Given the description of an element on the screen output the (x, y) to click on. 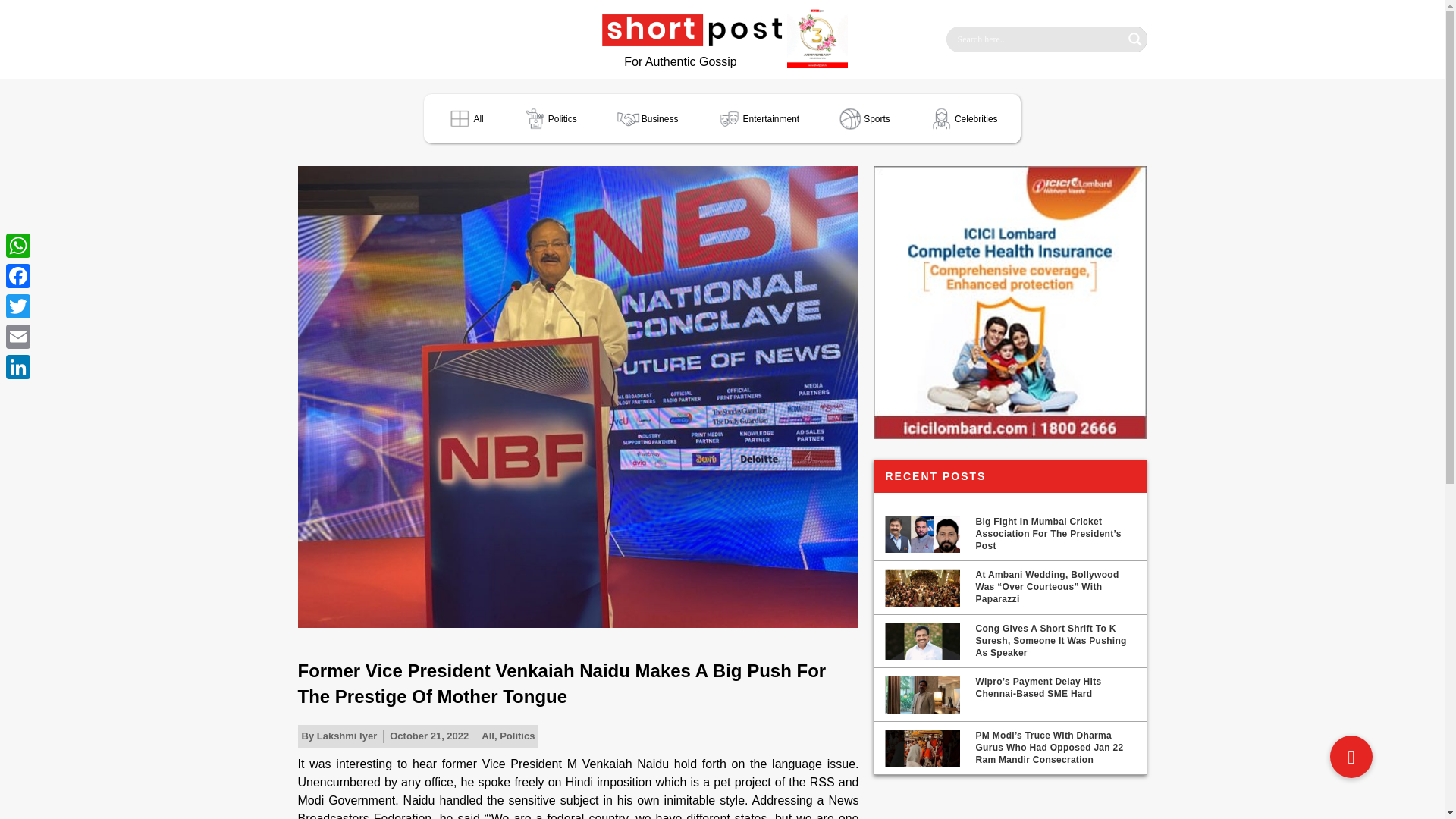
October 21, 2022 (429, 735)
Business (646, 118)
All (488, 736)
Facebook (17, 276)
WhatsApp (17, 245)
Twitter (17, 306)
LinkedIn (17, 367)
All (463, 118)
Politics (549, 118)
Politics (516, 736)
By Lakshmi Iyer (339, 735)
Entertainment (756, 118)
Sports (863, 118)
Celebrities (962, 118)
Email (17, 336)
